Given the description of an element on the screen output the (x, y) to click on. 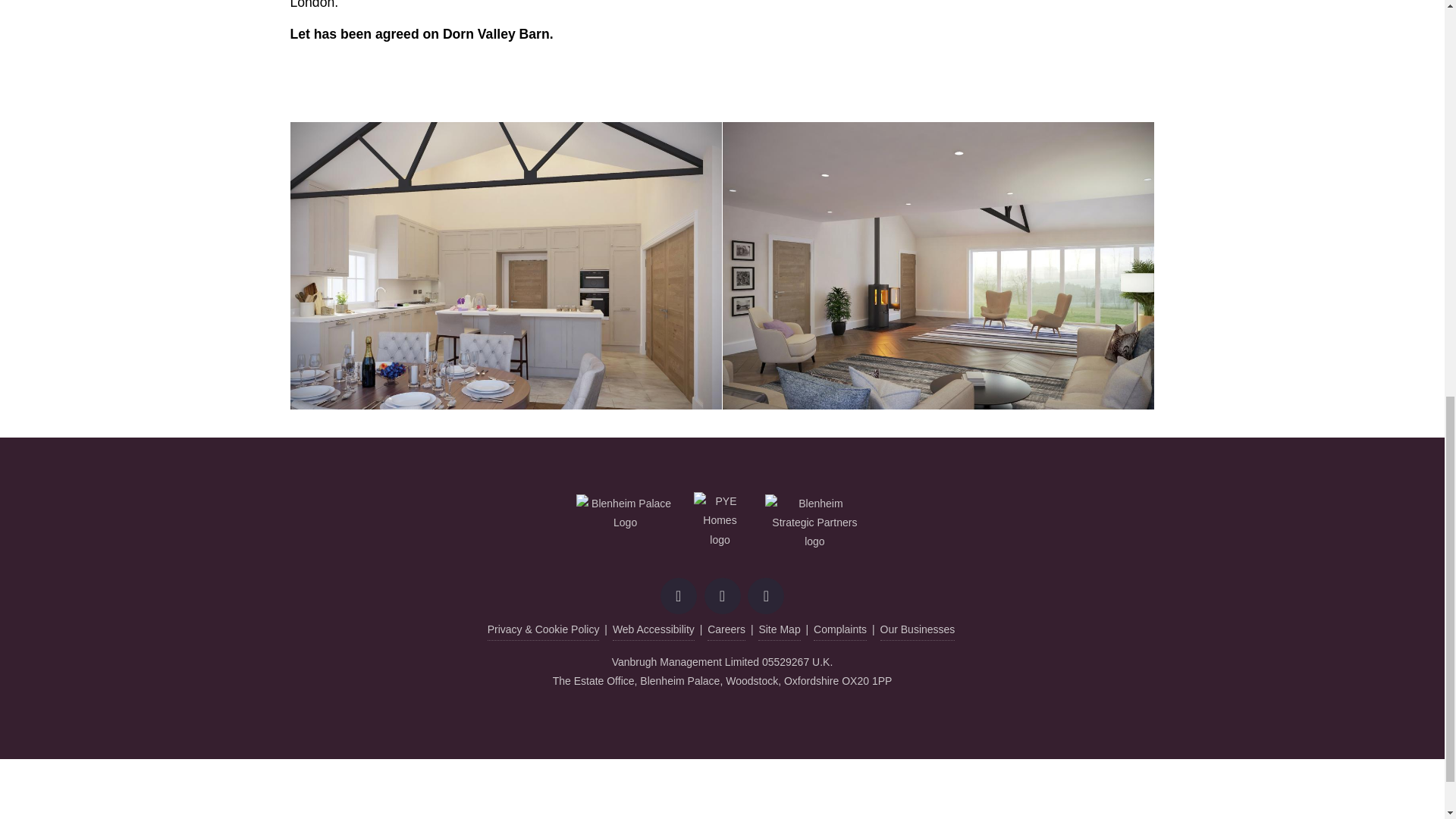
Follow Blenheim Estate on Facebook (679, 596)
Subscribe (956, 232)
on (779, 231)
Follow Blenheim Estate on LinkedIn (766, 596)
Internal CGI of the KitchenInternal CGI of the Living Room (938, 266)
Internal CGI of the Kitchen (505, 266)
